Given the description of an element on the screen output the (x, y) to click on. 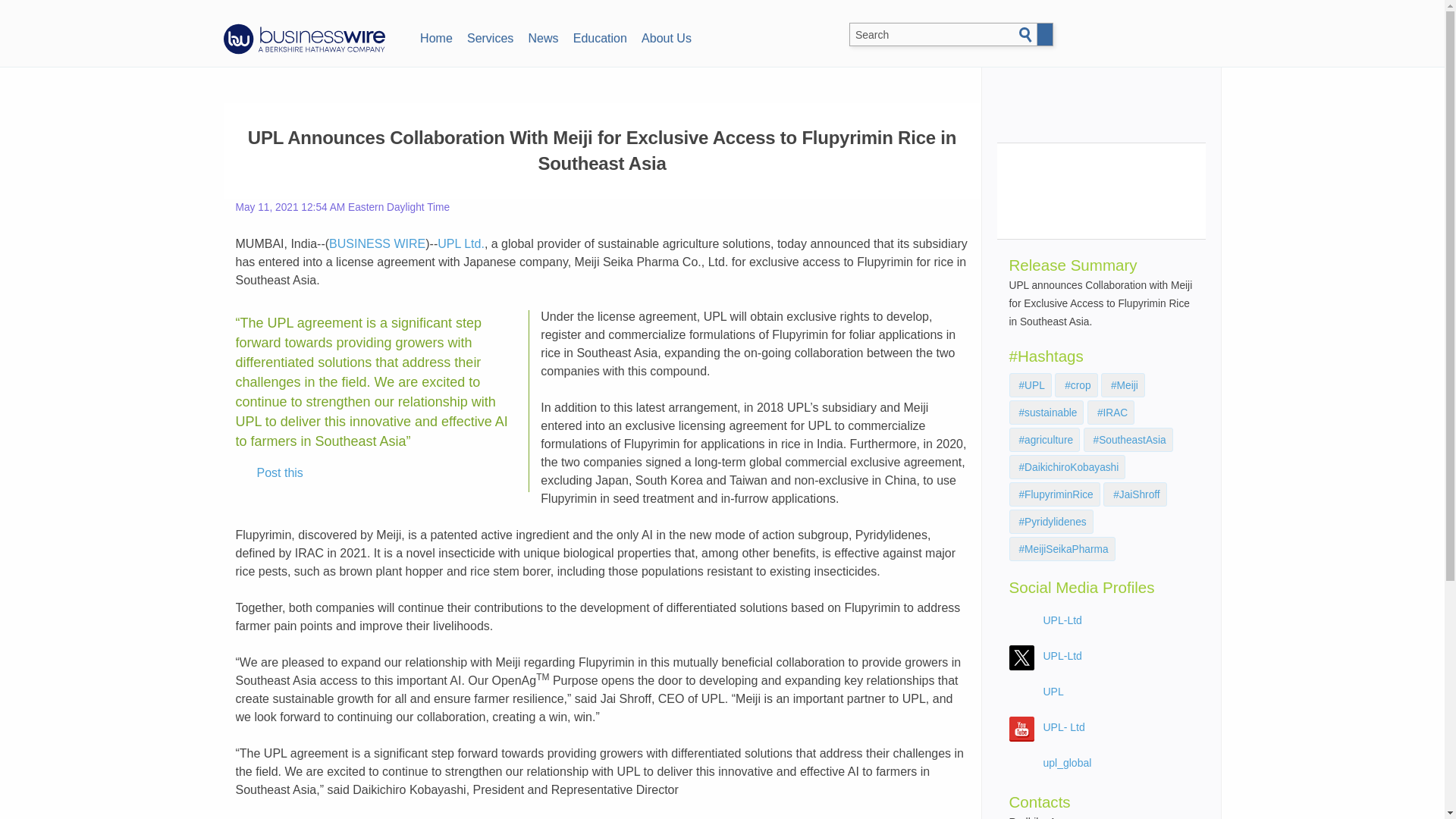
UPL-Ltd (1062, 655)
UPL- Ltd (1063, 727)
UPL (1053, 691)
UPL Ltd. (461, 243)
Post this (269, 472)
Home (436, 36)
Education (599, 36)
Search BusinessWire.com (948, 34)
Search (1025, 34)
Services (490, 36)
